Given the description of an element on the screen output the (x, y) to click on. 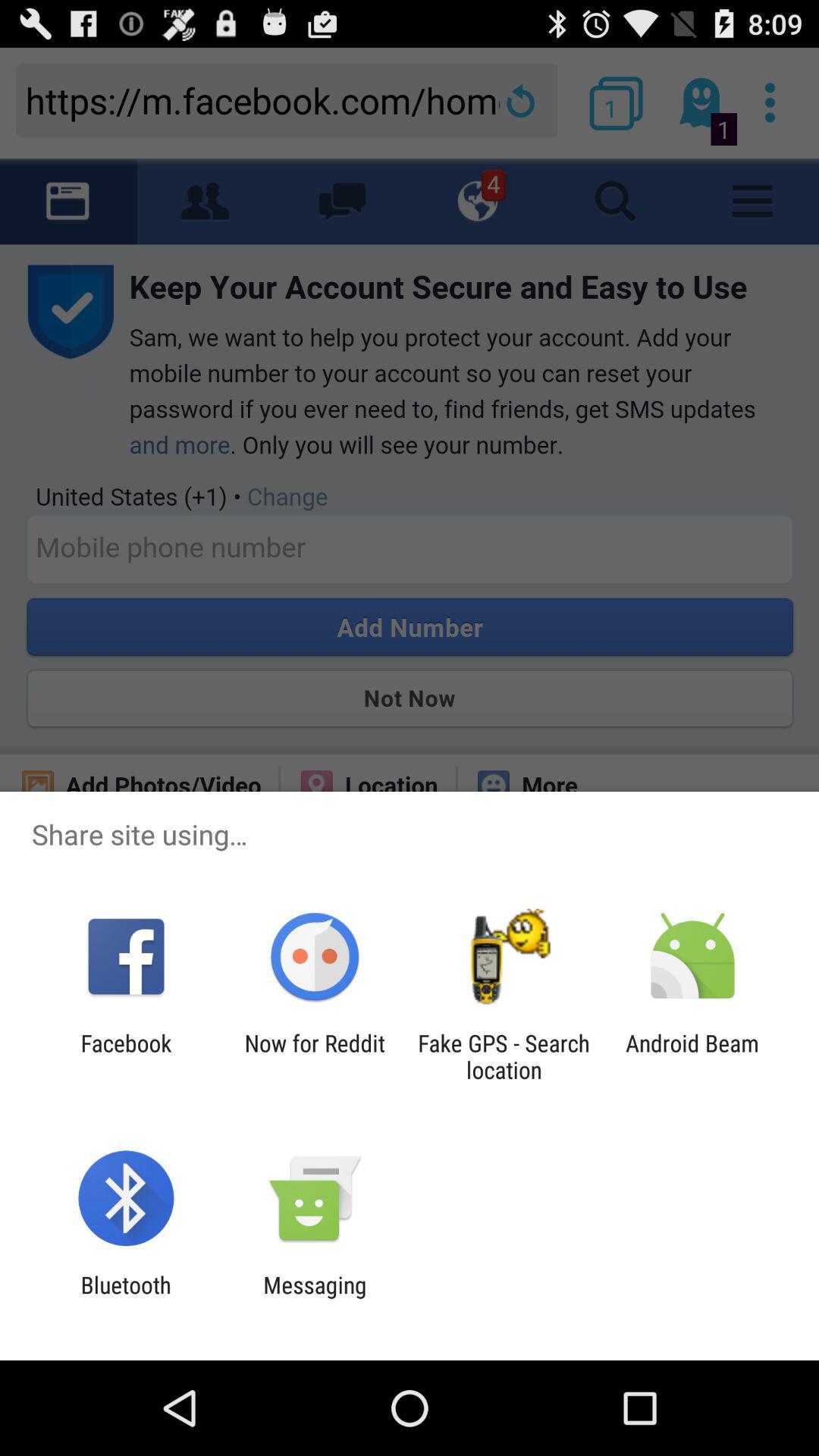
turn off item to the right of facebook app (314, 1056)
